Given the description of an element on the screen output the (x, y) to click on. 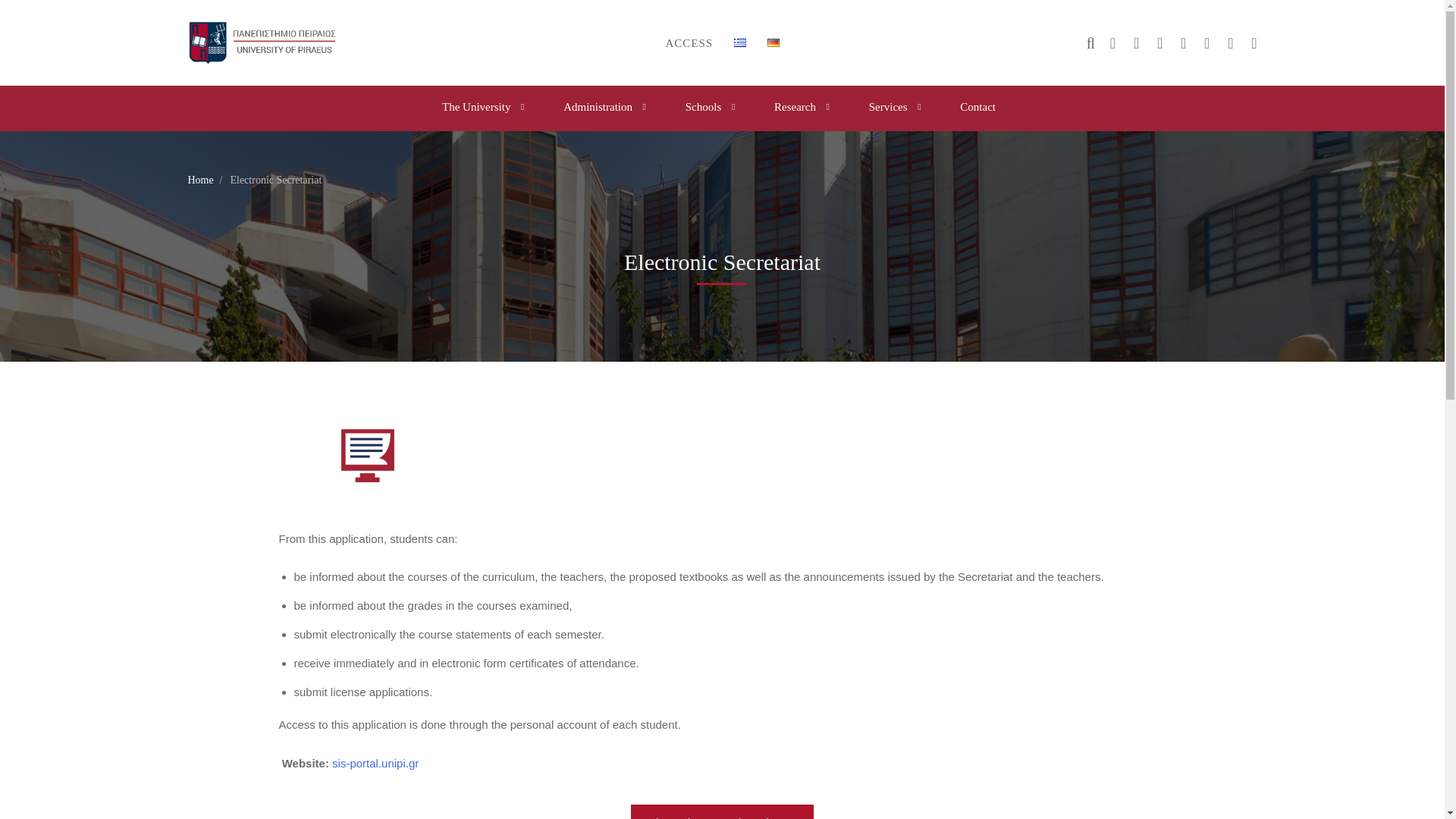
The University (482, 108)
Administration (603, 108)
ACCESS (689, 43)
